Given the description of an element on the screen output the (x, y) to click on. 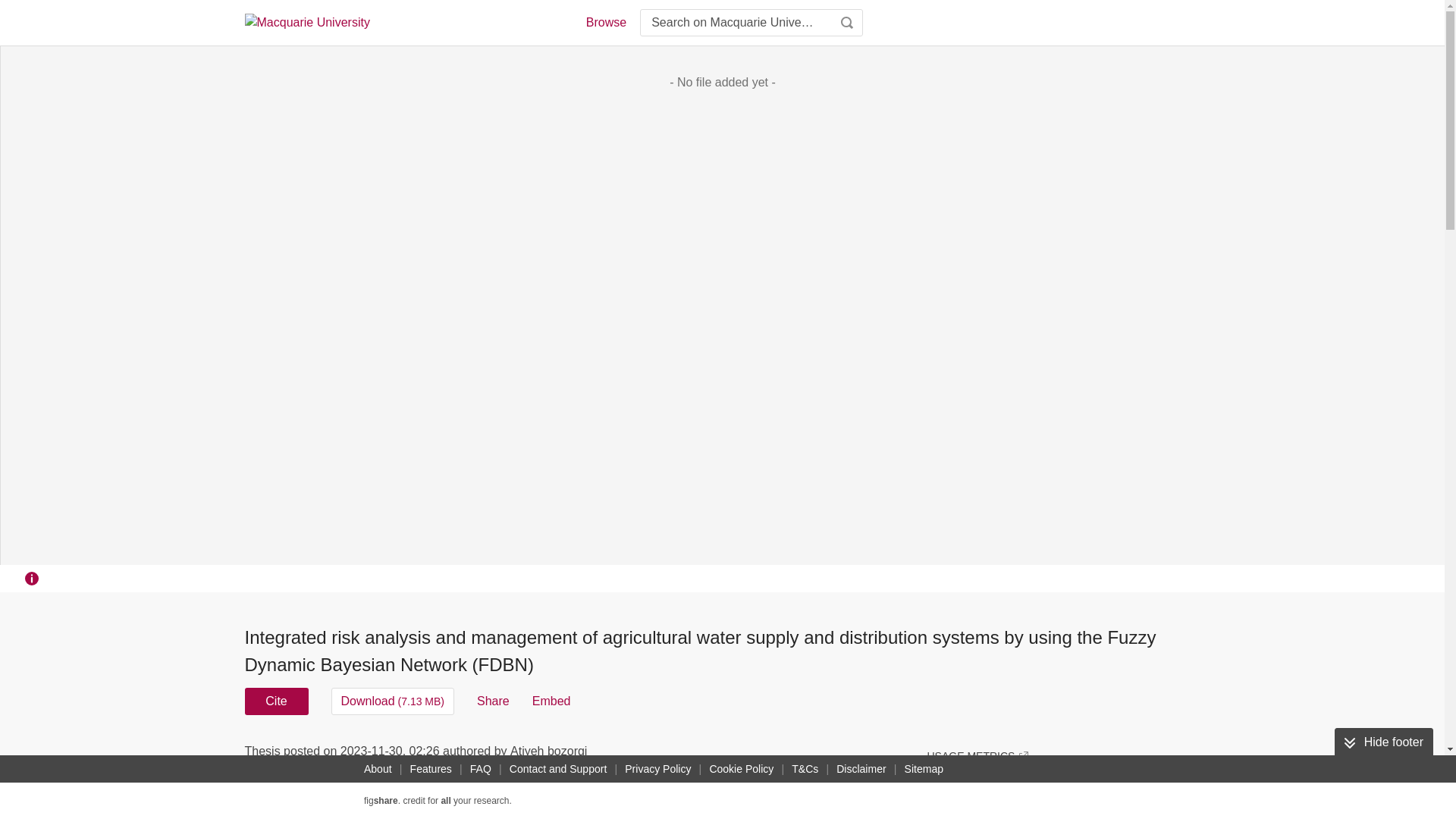
Hide footer (1383, 742)
Contact and Support (558, 769)
About (377, 769)
Disclaimer (860, 769)
Cite (275, 700)
FAQ (480, 769)
Cookie Policy (740, 769)
USAGE METRICS (976, 755)
Share (493, 700)
Features (431, 769)
